Given the description of an element on the screen output the (x, y) to click on. 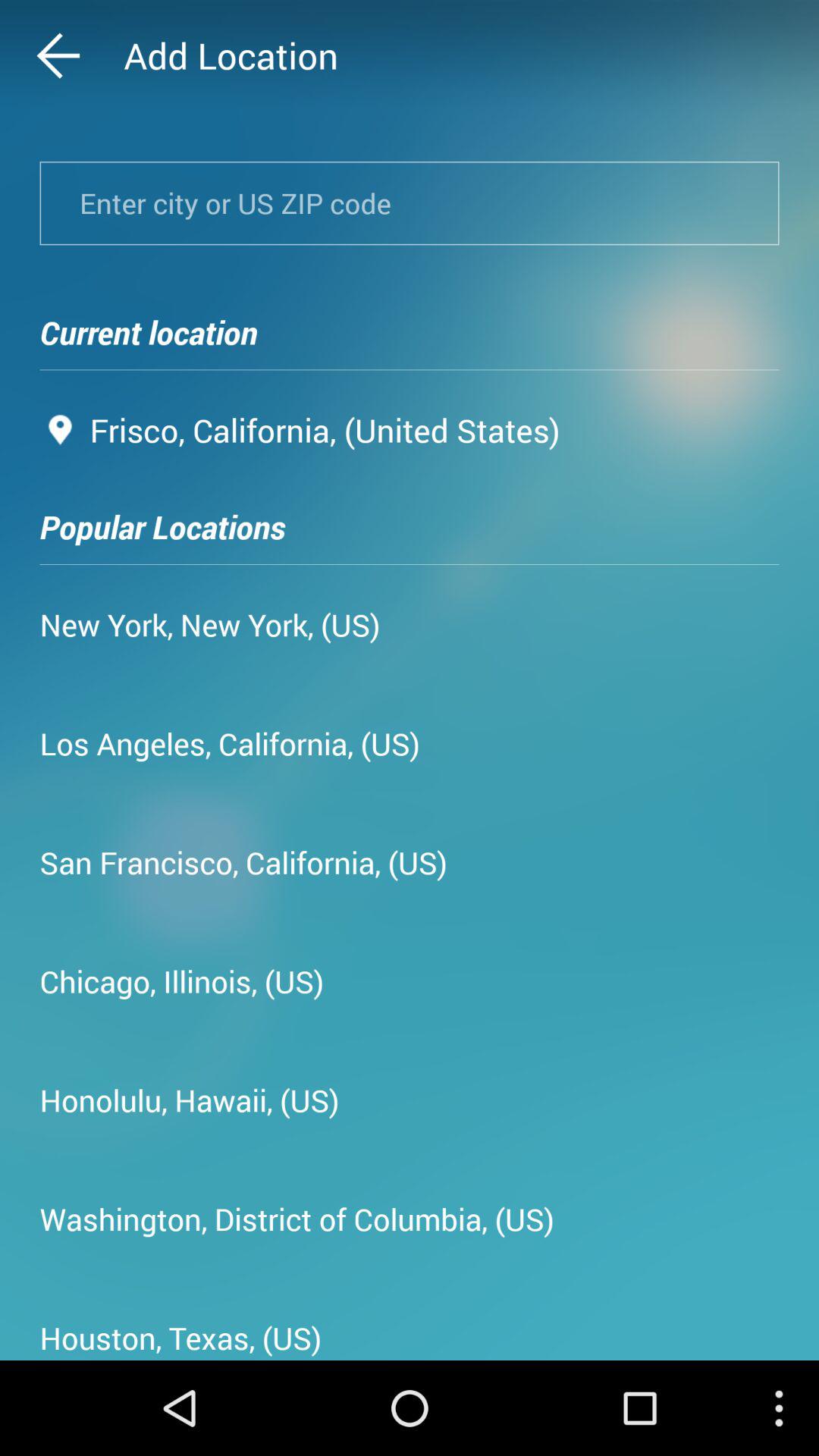
open item above honolulu, hawaii, (us) icon (182, 980)
